Given the description of an element on the screen output the (x, y) to click on. 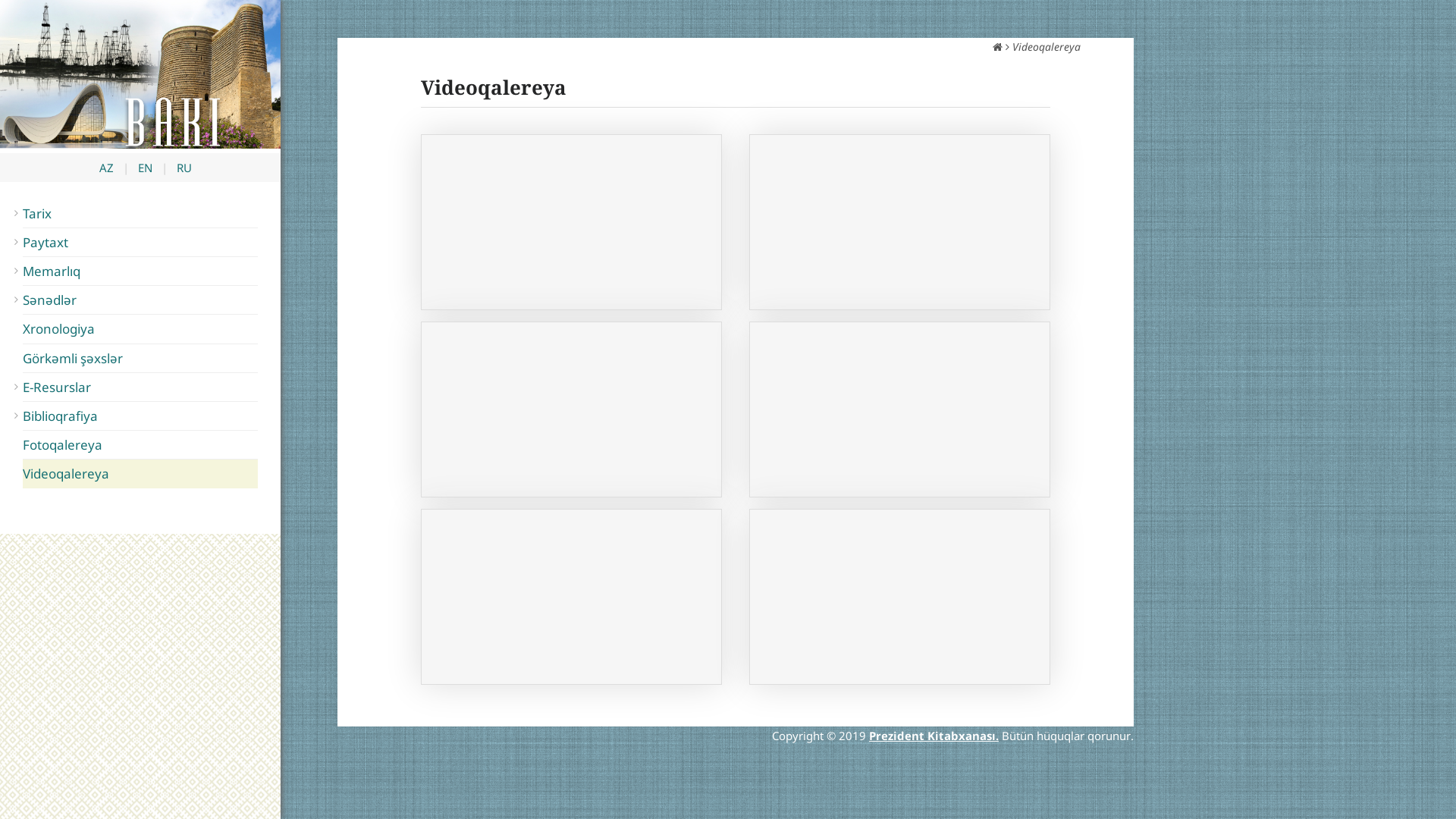
AZ Element type: text (106, 167)
RU Element type: text (183, 167)
Xronologiya Element type: text (139, 328)
E-Resurslar Element type: text (139, 387)
Biblioqrafiya Element type: text (139, 415)
Fotoqalereya Element type: text (139, 444)
Tarix Element type: text (139, 213)
Paytaxt Element type: text (139, 242)
EN Element type: text (145, 167)
Videoqalereya Element type: text (139, 473)
